Given the description of an element on the screen output the (x, y) to click on. 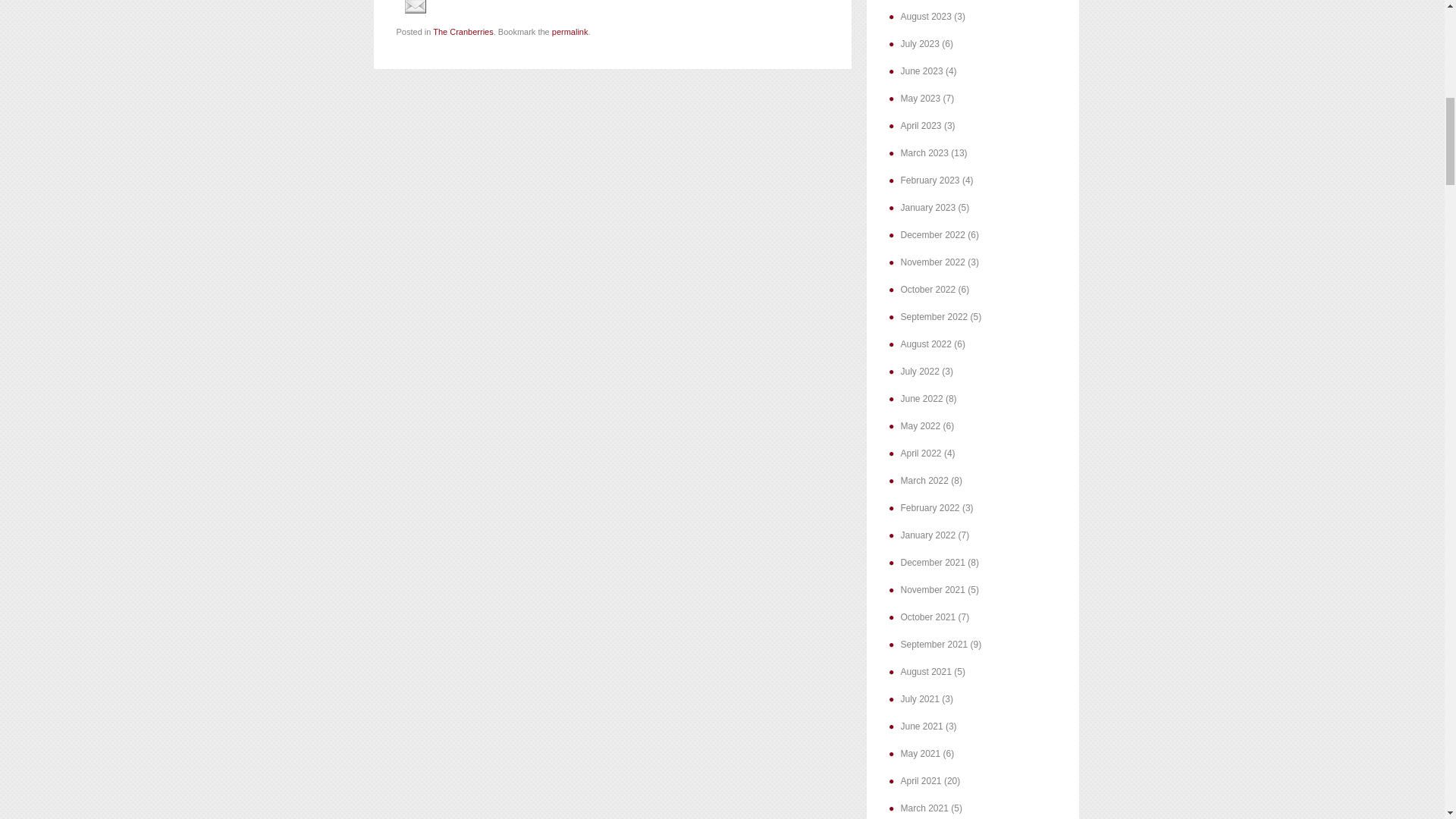
Email (414, 6)
